Given the description of an element on the screen output the (x, y) to click on. 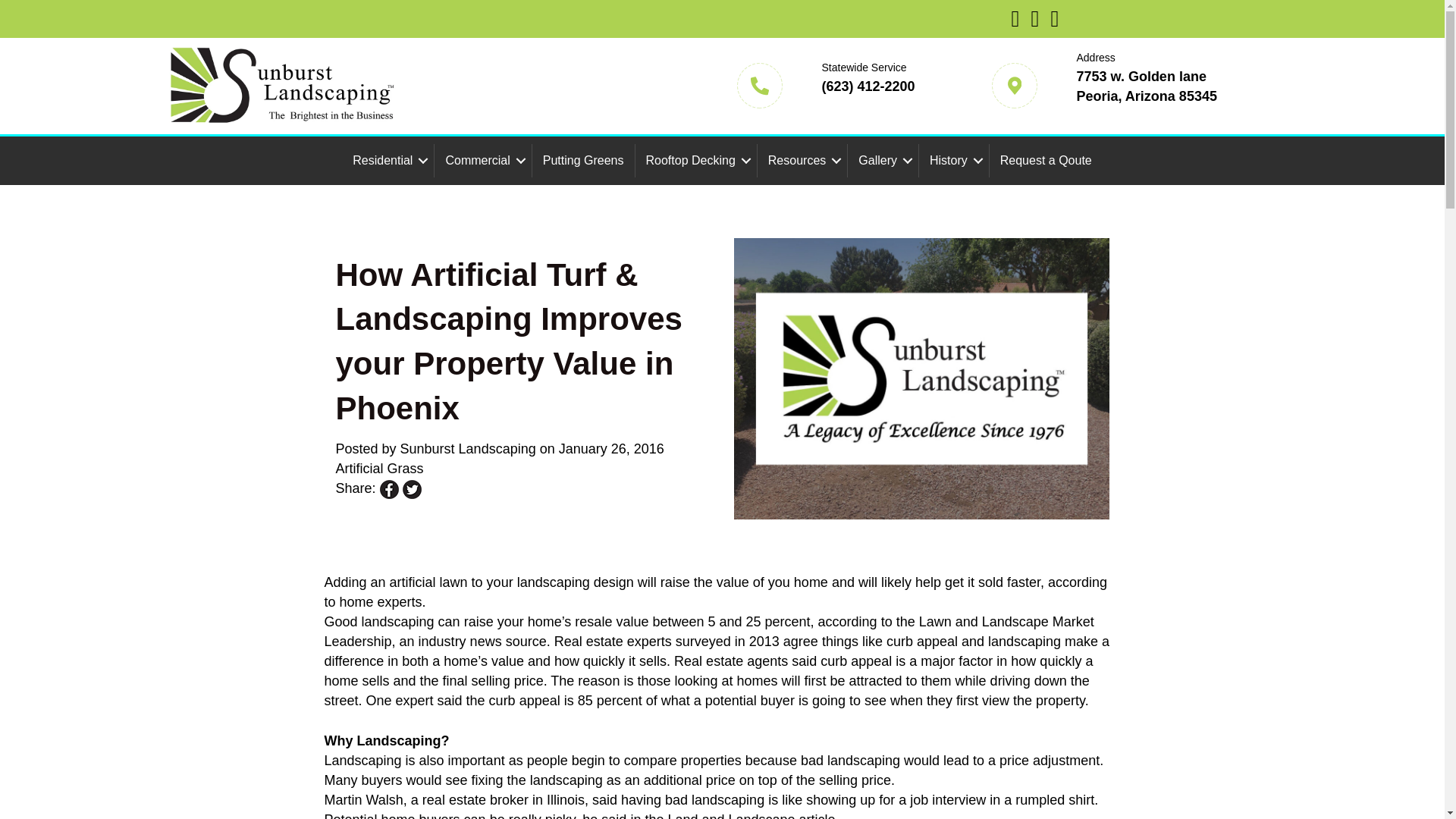
Putting Greens (583, 160)
Gallery (882, 160)
sunburst landscaping (282, 85)
Commercial (482, 160)
Residential (387, 160)
Rooftop Decking (695, 160)
loc-icon-new (1013, 85)
phone-icon-new (759, 85)
Resources (802, 160)
